Given the description of an element on the screen output the (x, y) to click on. 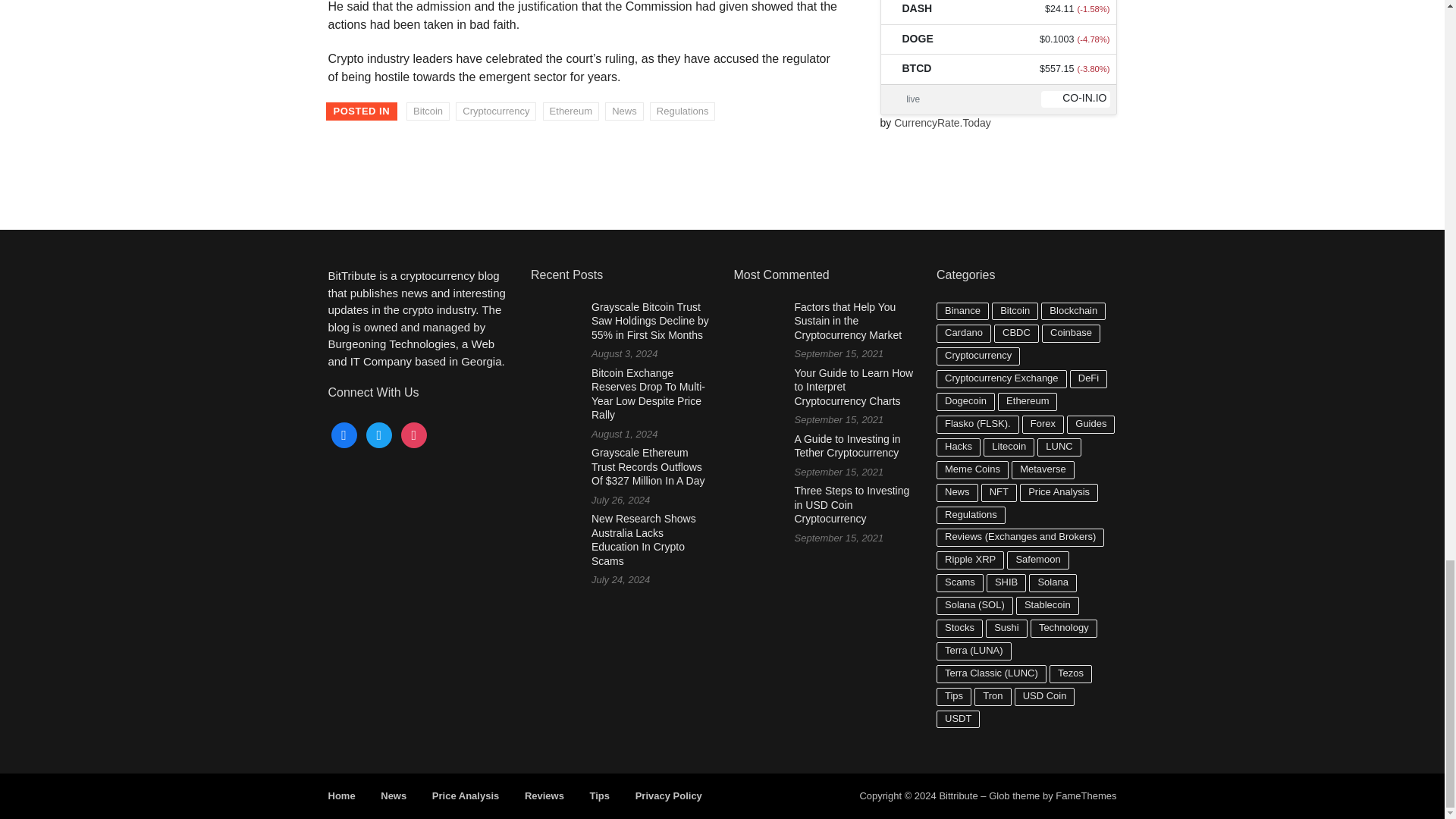
Cryptocurrency (495, 111)
News (624, 111)
Ethereum (570, 111)
Bitcoin (427, 111)
Regulations (682, 111)
